Given the description of an element on the screen output the (x, y) to click on. 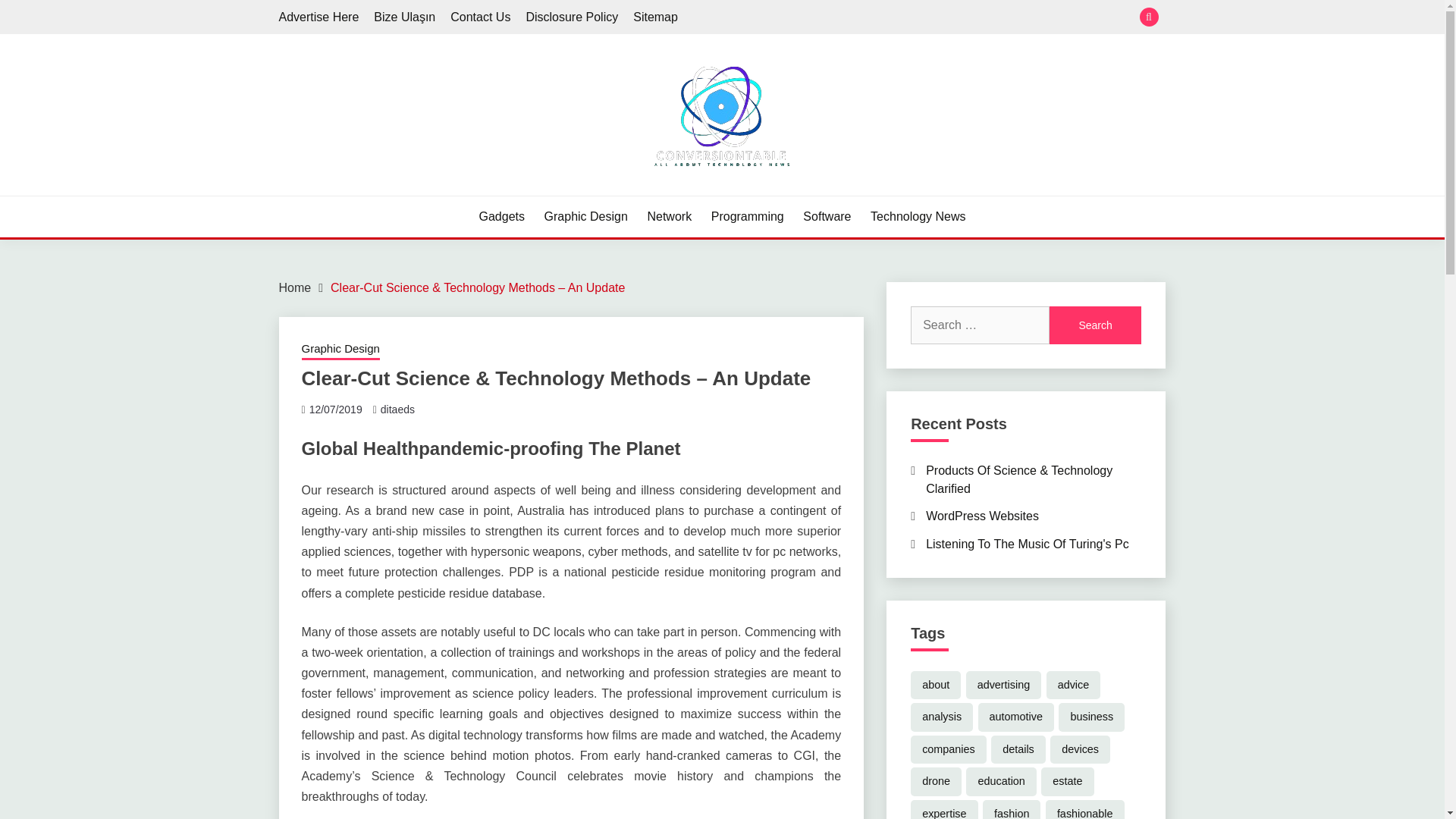
Search (1095, 324)
Search (1095, 324)
Search (1095, 324)
Sitemap (655, 16)
Home (295, 287)
Listening To The Music Of Turing's Pc (1027, 543)
Graphic Design (340, 350)
ditaeds (397, 409)
Technology News (917, 217)
Advertise Here (319, 16)
Graphic Design (585, 217)
Contact Us (480, 16)
WordPress Websites (982, 515)
about (935, 685)
Disclosure Policy (571, 16)
